Given the description of an element on the screen output the (x, y) to click on. 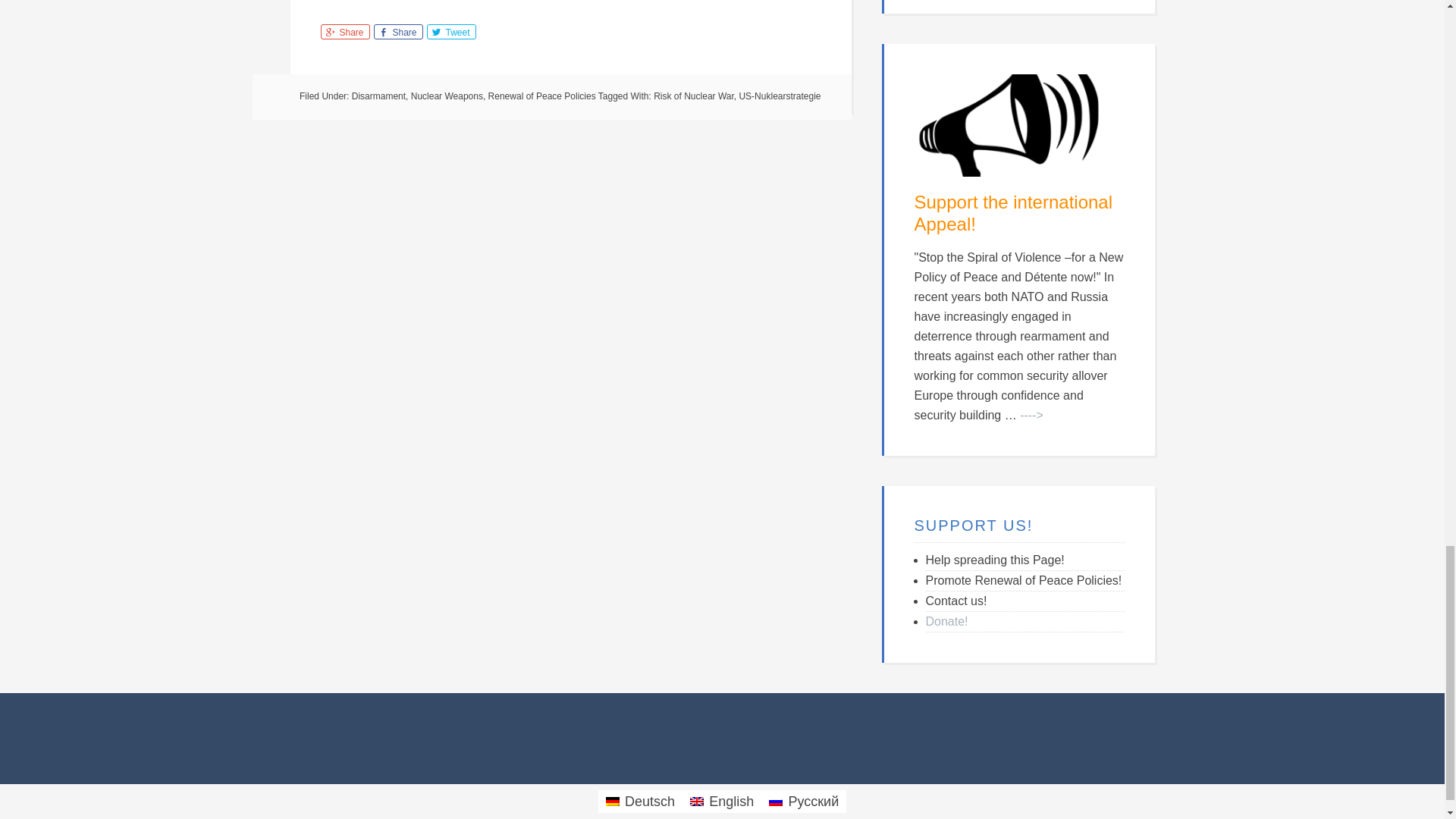
US-Nuklearstrategie (779, 95)
Renewal of Peace Policies (541, 95)
Tweet (451, 31)
Disarmament (379, 95)
Share (344, 31)
Share (397, 31)
Risk of Nuclear War (693, 95)
Nuclear Weapons (446, 95)
